Given the description of an element on the screen output the (x, y) to click on. 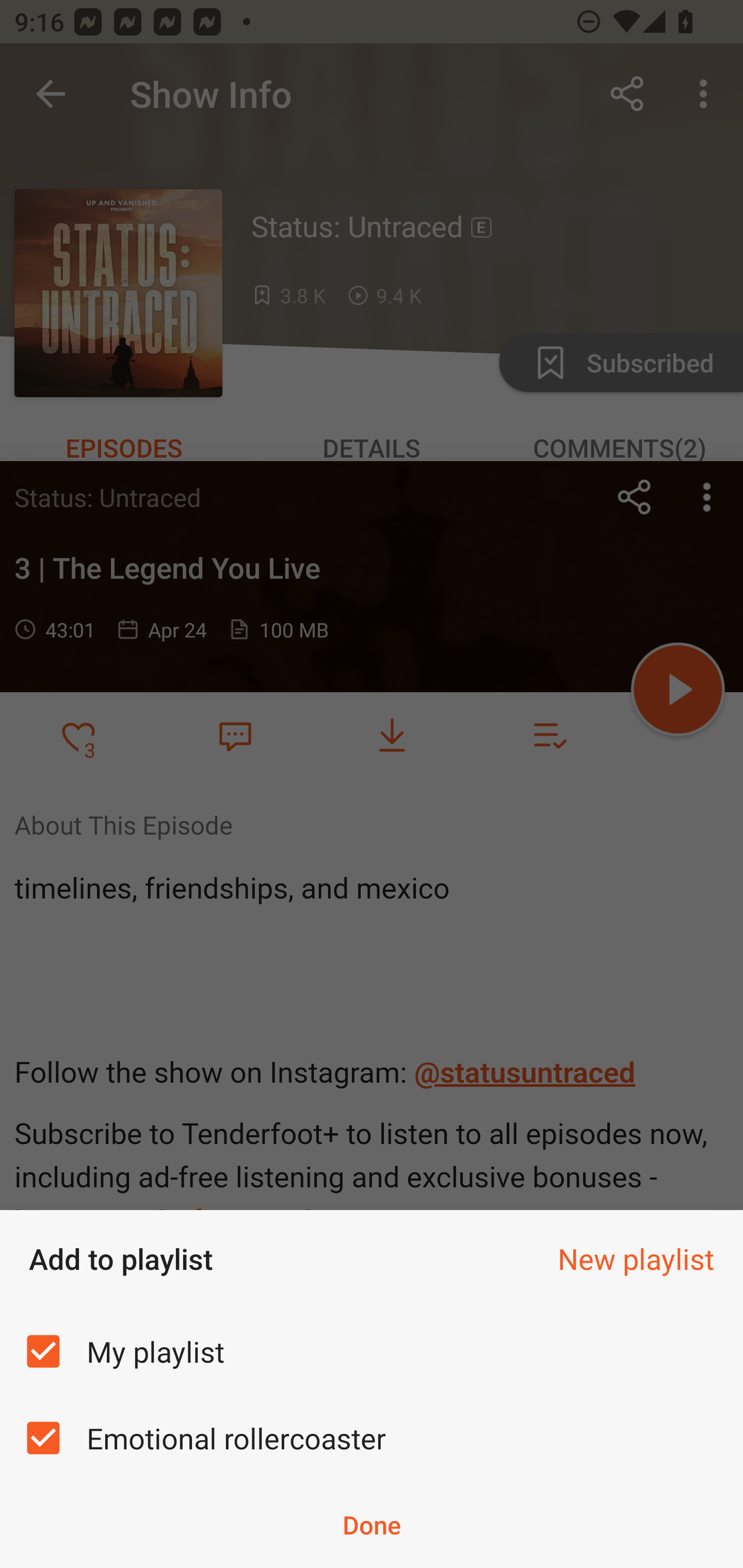
New playlist (636, 1258)
My playlist (371, 1350)
Emotional rollercoaster (371, 1437)
Done (371, 1524)
